Given the description of an element on the screen output the (x, y) to click on. 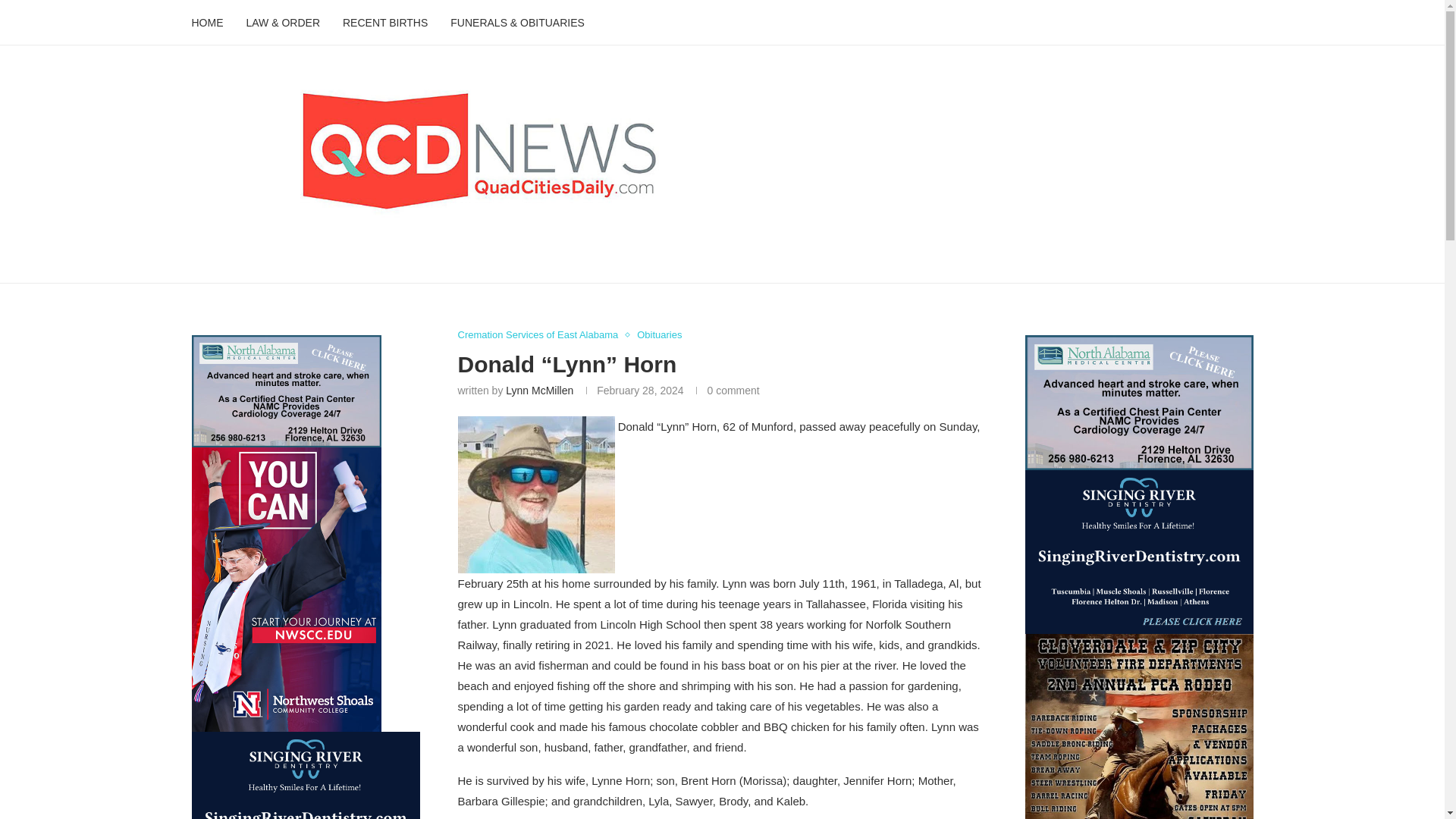
Cremation Services of East Alabama (542, 335)
RECENT BIRTHS (385, 22)
HOME (206, 22)
Lynn McMillen (539, 390)
Obituaries (659, 335)
